Given the description of an element on the screen output the (x, y) to click on. 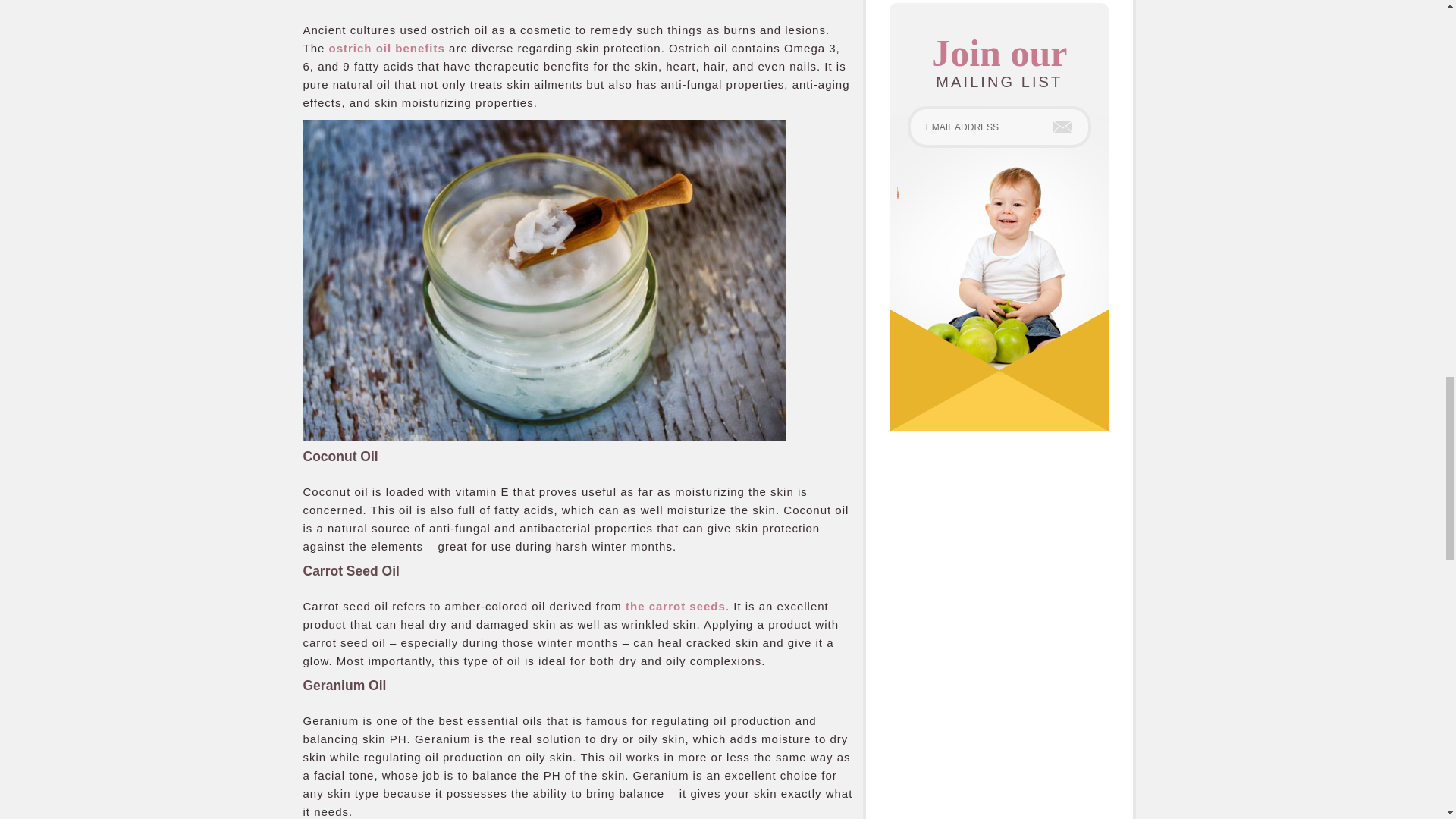
the carrot seeds (675, 605)
Send (1061, 126)
Email Address (998, 127)
Send (1061, 126)
ostrich oil benefits (387, 47)
